Given the description of an element on the screen output the (x, y) to click on. 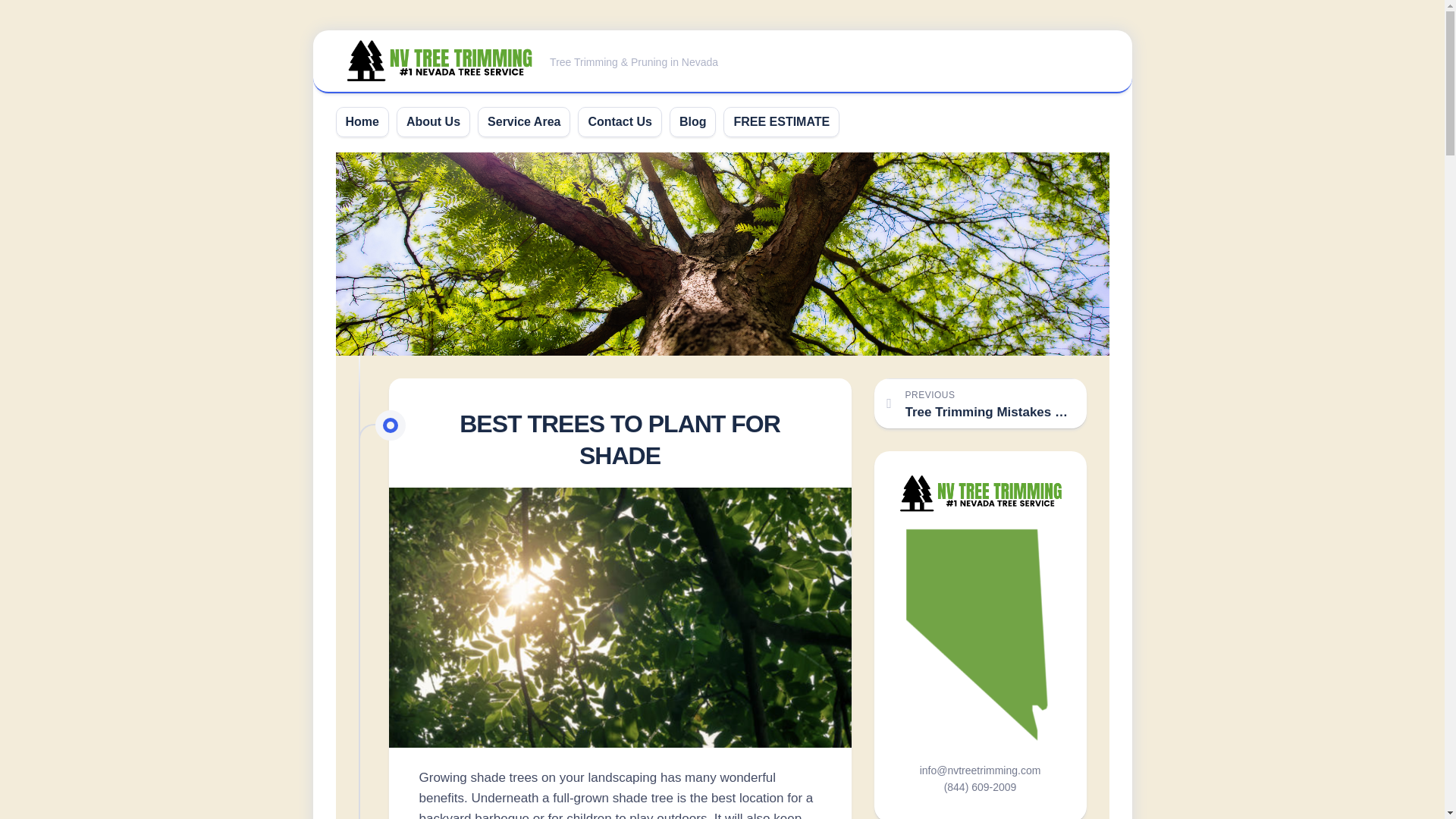
Blog (692, 121)
Service Area (523, 121)
About Us (433, 121)
FREE ESTIMATE (979, 403)
Contact Us (781, 121)
Home (619, 121)
